Given the description of an element on the screen output the (x, y) to click on. 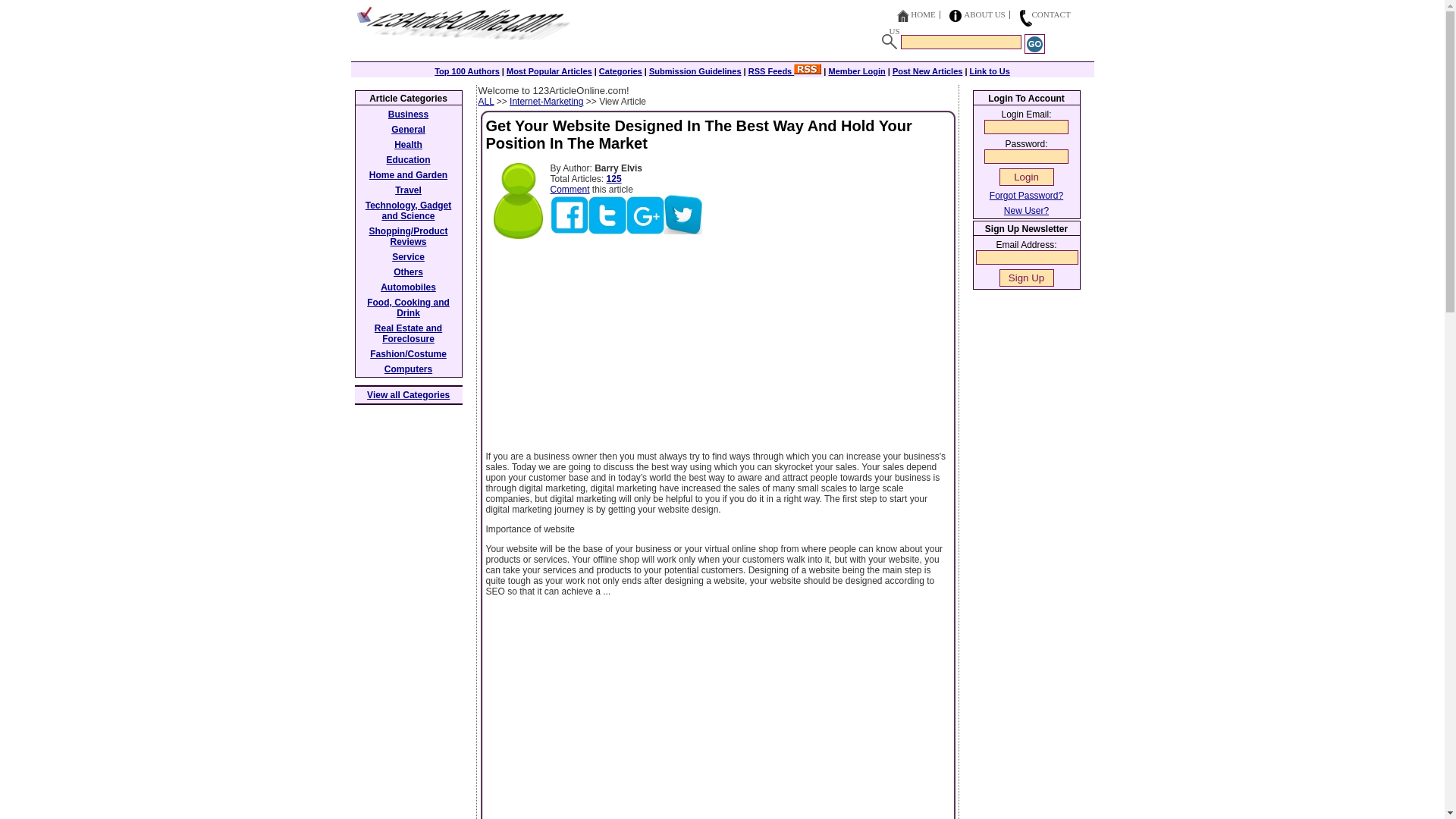
Top 100 Authors (466, 71)
ALL (485, 101)
Submission Guidelines (695, 71)
Categories (620, 71)
Internet-Marketing (546, 101)
Comment (569, 189)
Most Popular Articles (549, 71)
125 (614, 178)
